Given the description of an element on the screen output the (x, y) to click on. 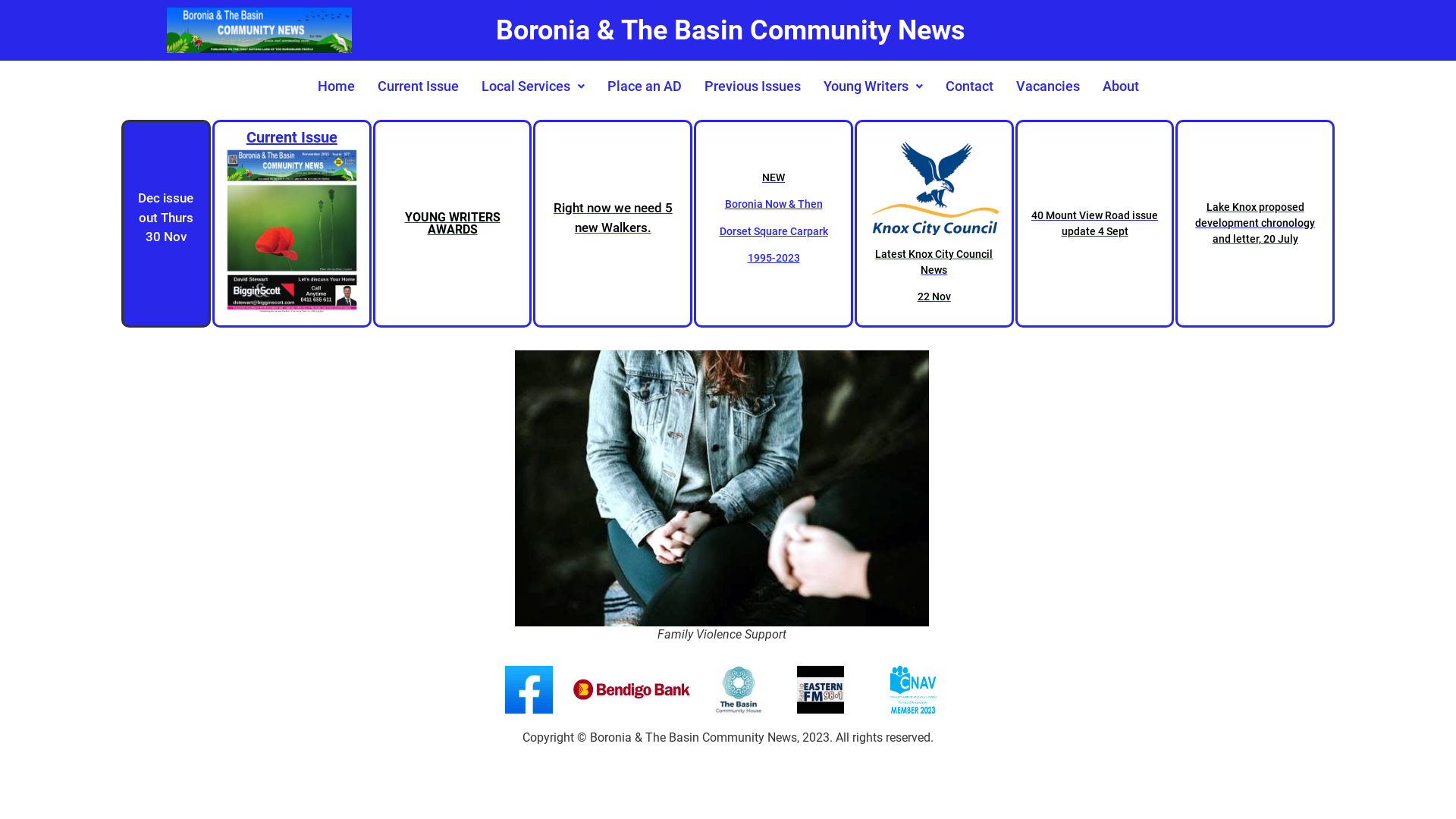
40 Mount View Road issue update 4 Sept Element type: text (1094, 223)
Place an AD Element type: text (644, 86)
About Element type: text (1119, 86)
Contact Element type: text (969, 86)
Fbook Element type: hover (528, 689)
Current Issue Element type: text (417, 86)
Latest Knox City Council News
22 Nov Element type: text (933, 223)
Home Element type: text (336, 86)
YOUNG WRITERS AWARDS Element type: text (452, 223)
Young Writers Element type: text (872, 86)
Previous Issues Element type: text (752, 86)
Local Services Element type: text (533, 86)
Current Issue Element type: text (291, 223)
Right now we need 5 new Walkers. Element type: text (612, 223)
NEW
Boronia Now & Then
Dorset Square Carpark
1995-2023 Element type: text (773, 223)
Vacancies Element type: text (1047, 86)
